Given the description of an element on the screen output the (x, y) to click on. 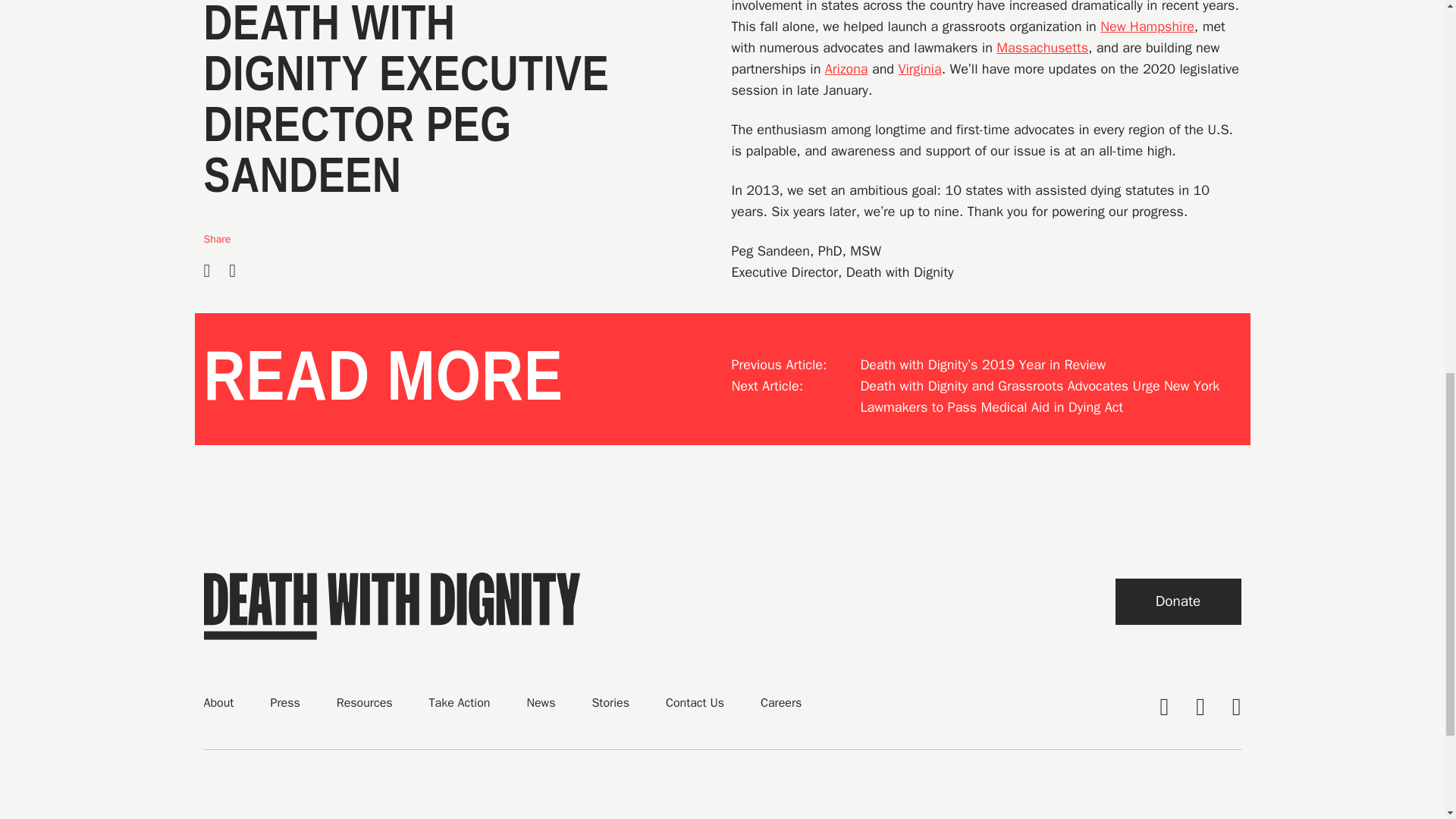
Donate (1177, 601)
Virginia (919, 68)
New Hampshire (1146, 26)
instagram (1236, 706)
Arizona (846, 68)
Massachusetts (1041, 47)
twitter (1200, 706)
facebook (1163, 706)
title (1177, 601)
